Given the description of an element on the screen output the (x, y) to click on. 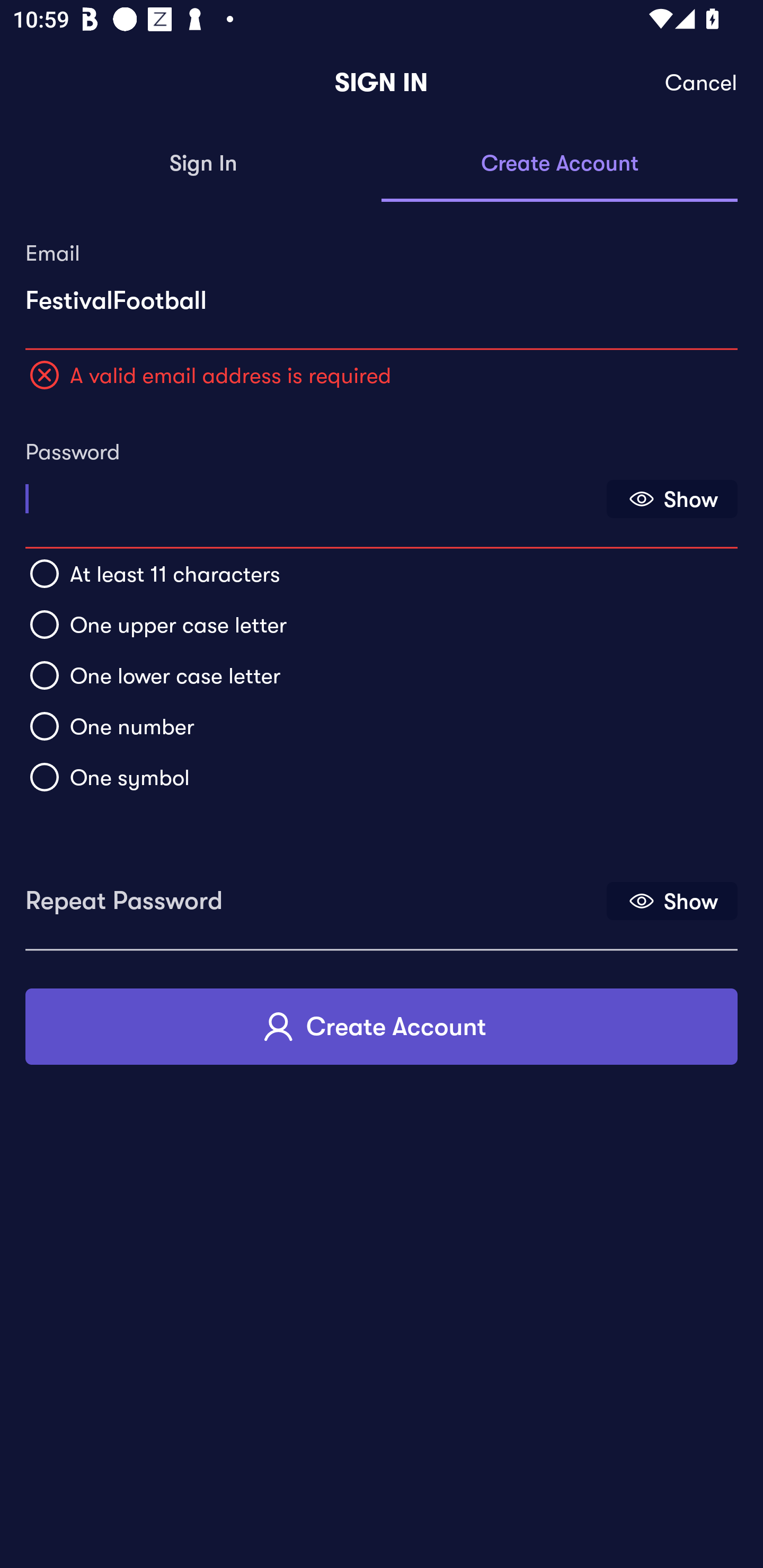
Cancel (701, 82)
Sign In (203, 164)
Create Account (559, 164)
Password, error message, At least 11 characters (314, 493)
Show Password Show (671, 498)
Repeat Password (314, 894)
Show Repeat Password Show (671, 900)
Create Account (381, 1025)
